Given the description of an element on the screen output the (x, y) to click on. 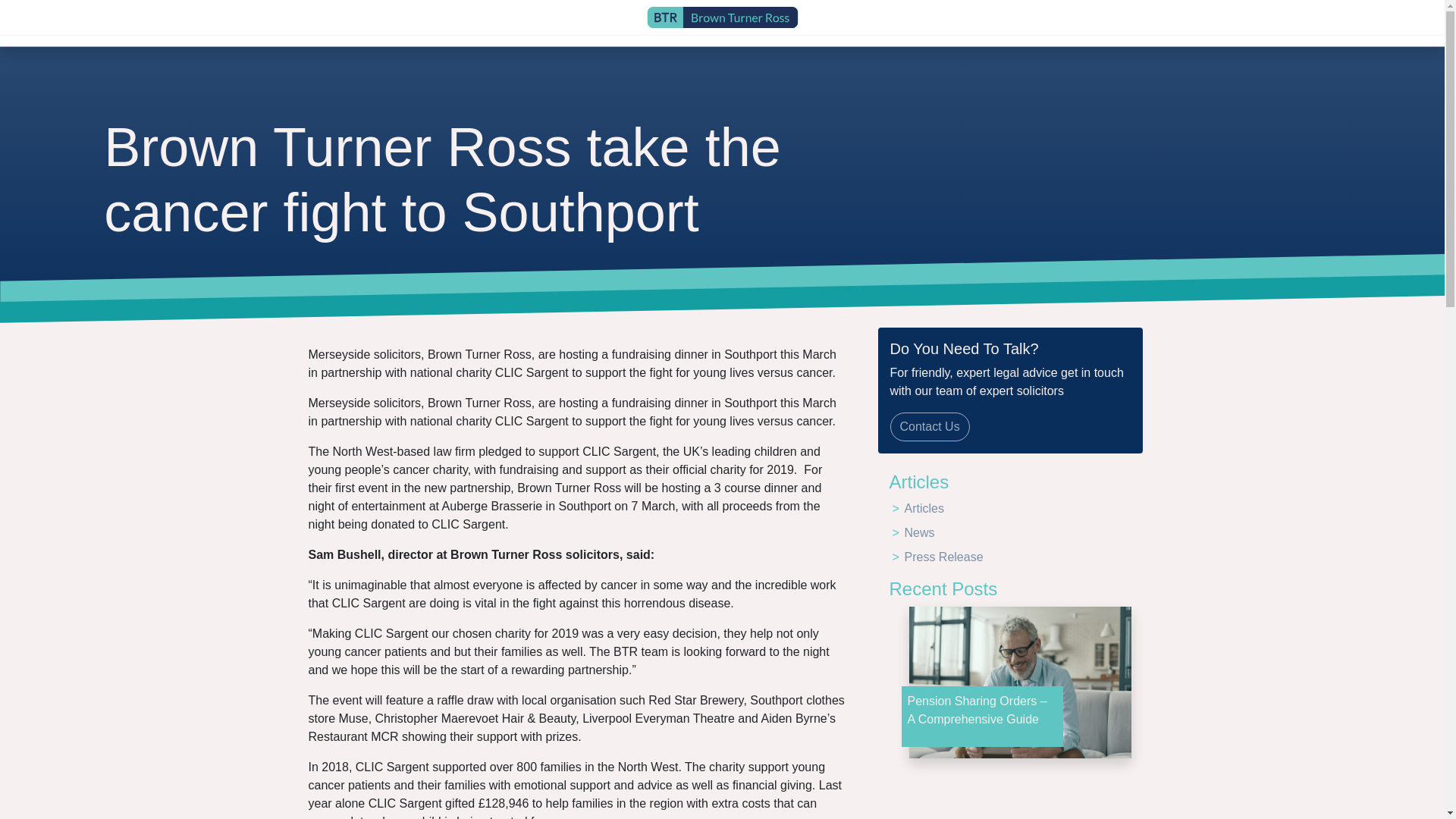
Contact Us (929, 426)
Contact Us (929, 425)
Press Release (943, 556)
News (919, 532)
Articles (923, 508)
